Given the description of an element on the screen output the (x, y) to click on. 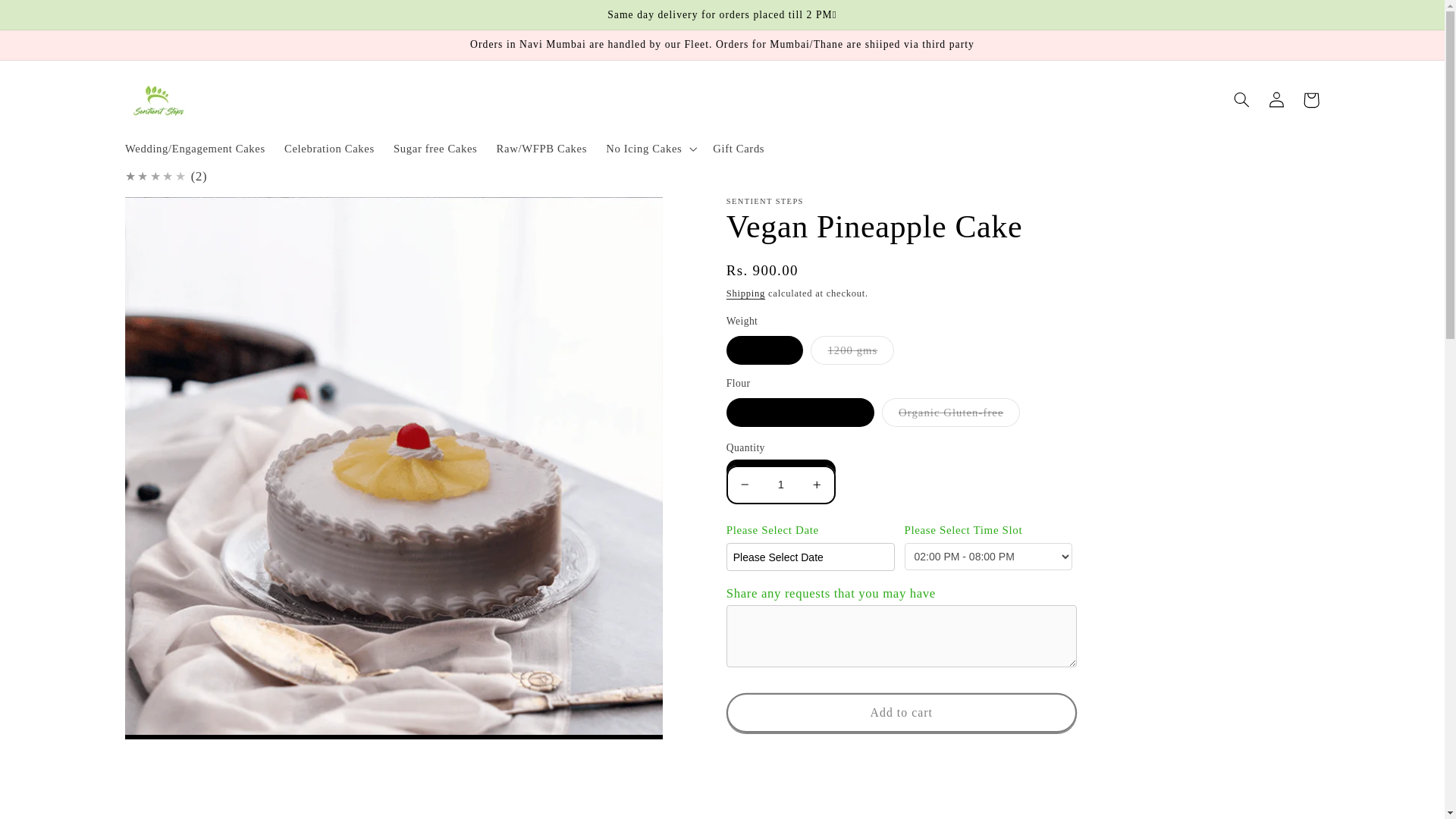
Skip to product information (172, 215)
Celebration Cakes (329, 148)
Sugar free Cakes (435, 148)
Skip to content (48, 18)
Add to cart (901, 712)
Shipping (745, 293)
